Given the description of an element on the screen output the (x, y) to click on. 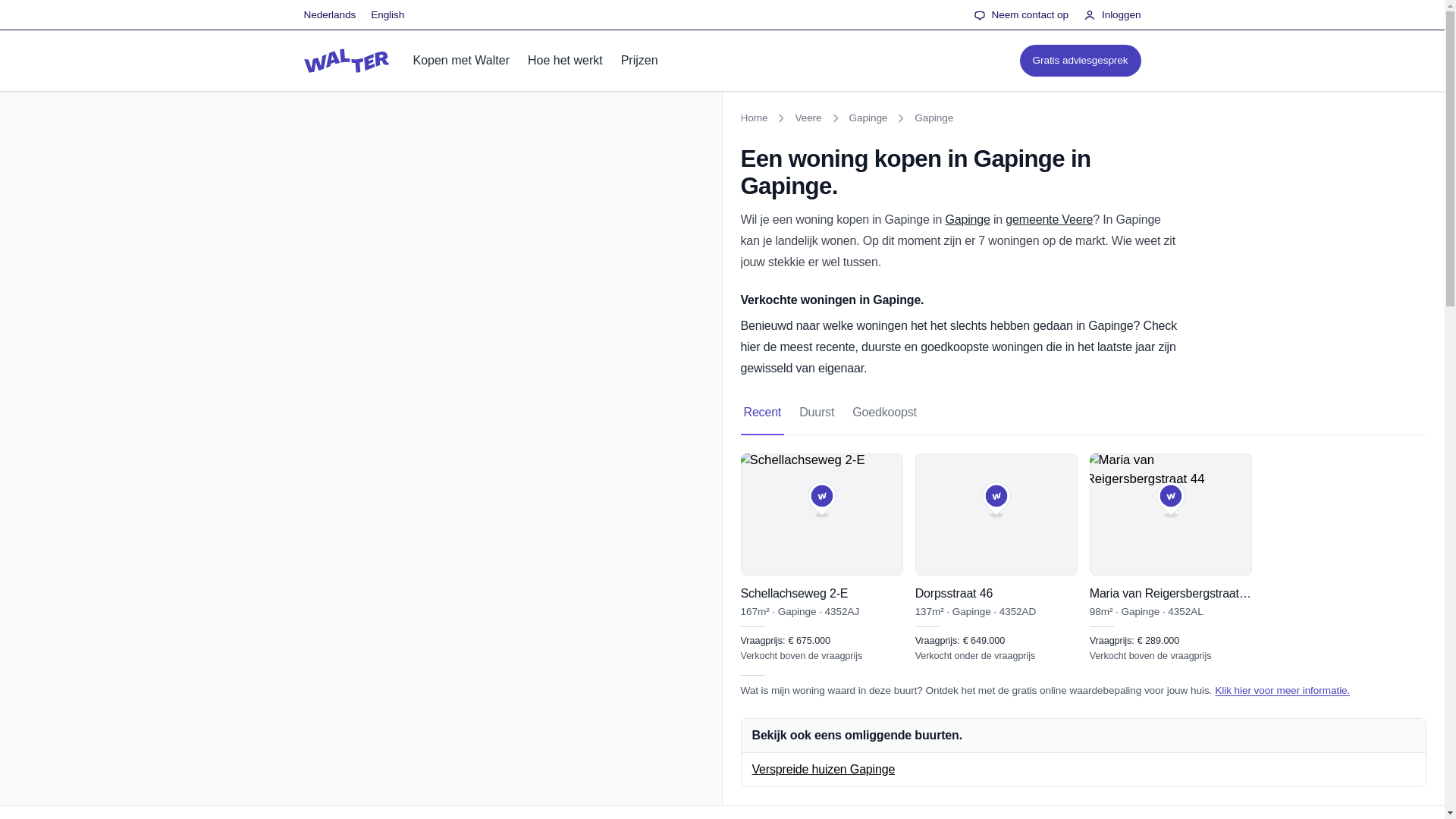
Veere (807, 117)
Goedkoopst (884, 412)
gemeente Veere (1049, 219)
Homepage (345, 60)
Home (753, 117)
Inloggen (1111, 14)
Gapinge (1082, 412)
Nederlands (933, 117)
Gratis adviesgesprek (328, 14)
Inloggen (1079, 60)
Hoe het werkt (1111, 14)
Neem contact op (564, 60)
Goedkoopst (1021, 14)
Neem contact op (884, 412)
